Given the description of an element on the screen output the (x, y) to click on. 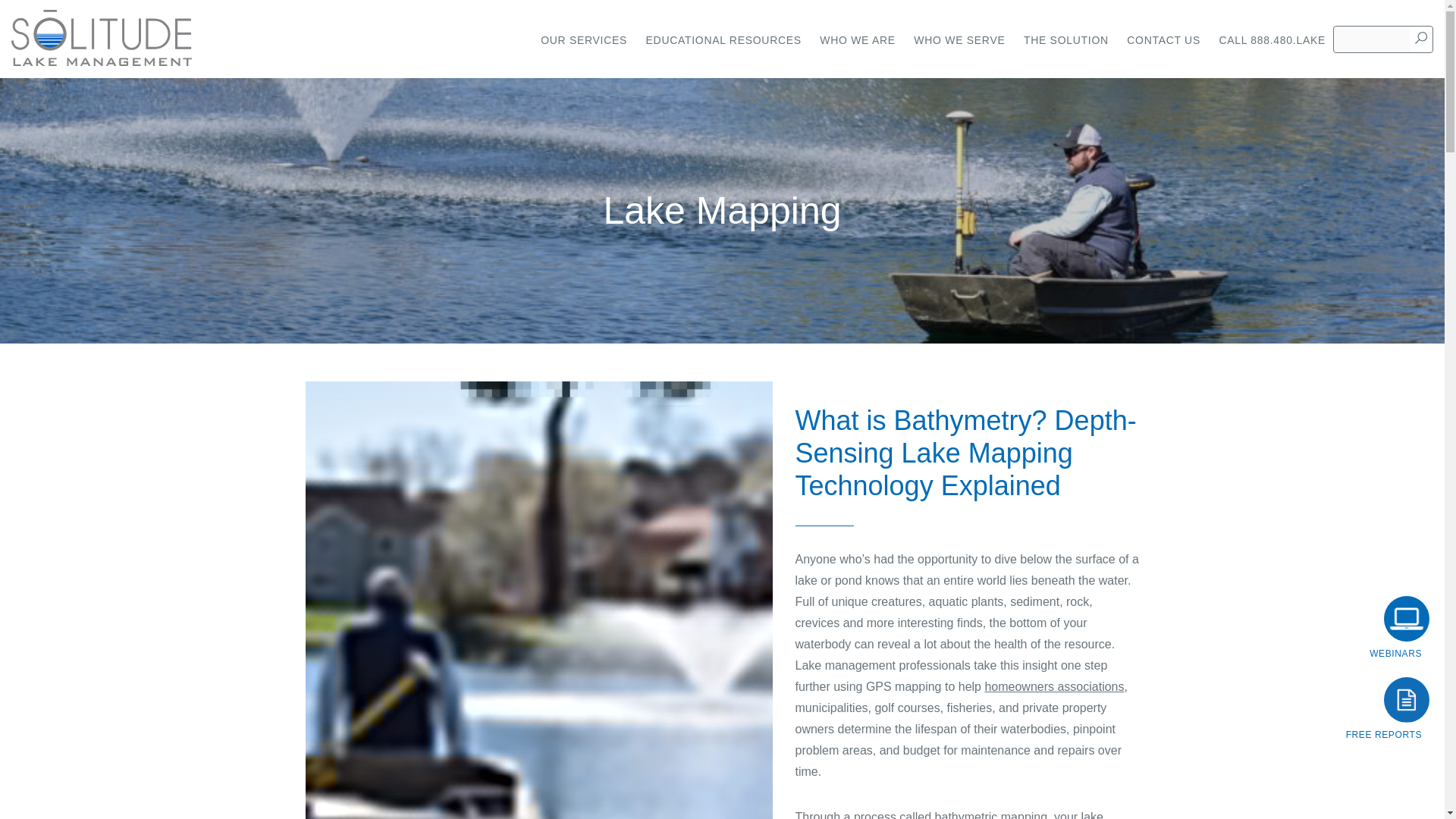
OUR SERVICES (583, 39)
CALL 888.480.LAKE (1272, 39)
CONTACT US (1163, 39)
THE SOLUTION (1066, 39)
WHO WE ARE (857, 39)
WHO WE SERVE (958, 39)
Search (1420, 37)
EDUCATIONAL RESOURCES (724, 39)
